Given the description of an element on the screen output the (x, y) to click on. 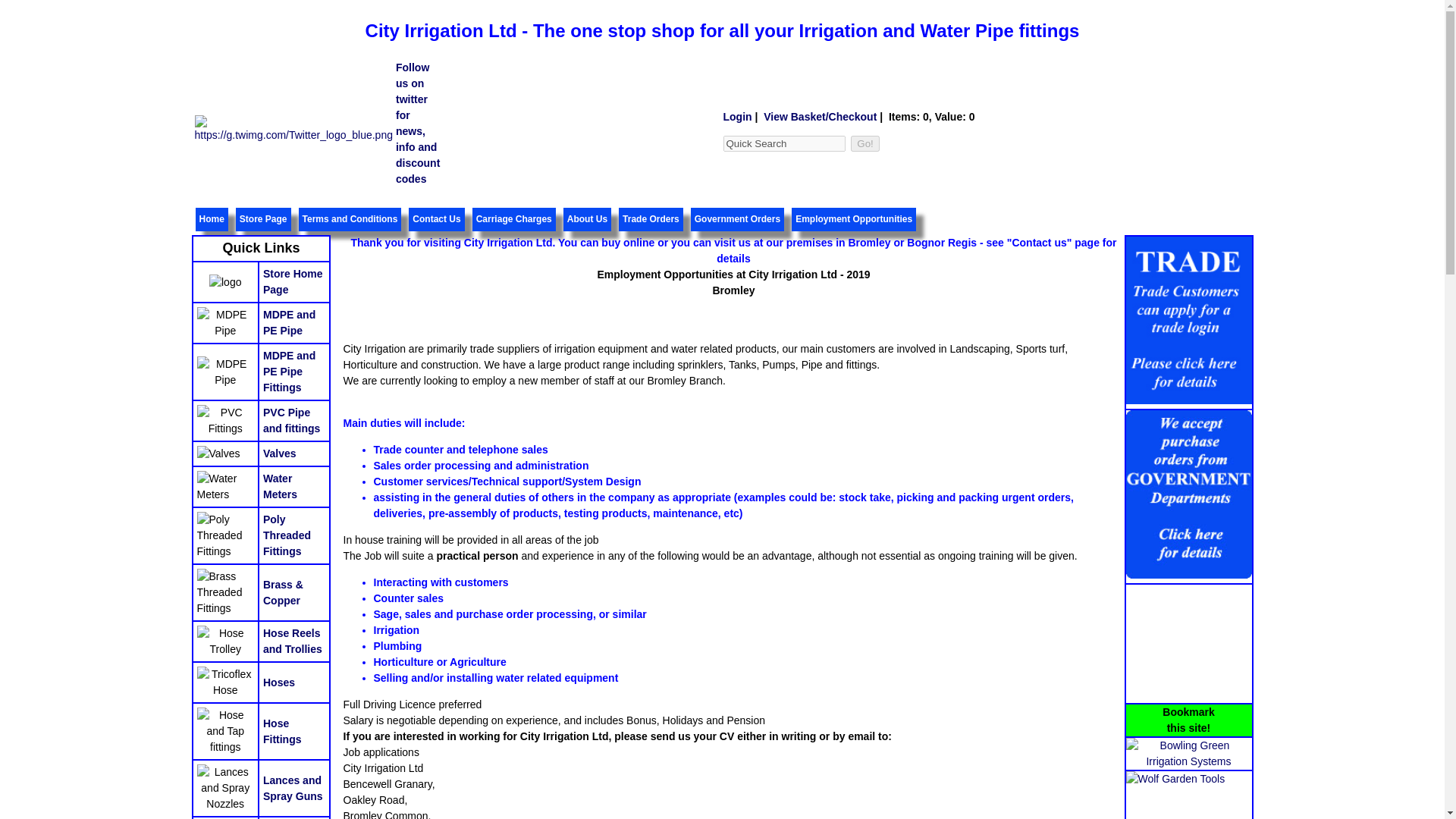
PVC Pipe and fittings (291, 420)
MDPE and PE Pipe Fittings (289, 371)
Contact Us (436, 218)
Poly Threaded Fittings (287, 535)
Go! (864, 143)
Hoses (279, 682)
Employment Opportunities (853, 218)
Store Page (263, 218)
Quick Search (784, 143)
Terms and Conditions (349, 218)
About Us (587, 218)
Lances and Spray Guns (293, 787)
Government Orders (737, 218)
Go! (864, 143)
Go! (864, 143)
